Given the description of an element on the screen output the (x, y) to click on. 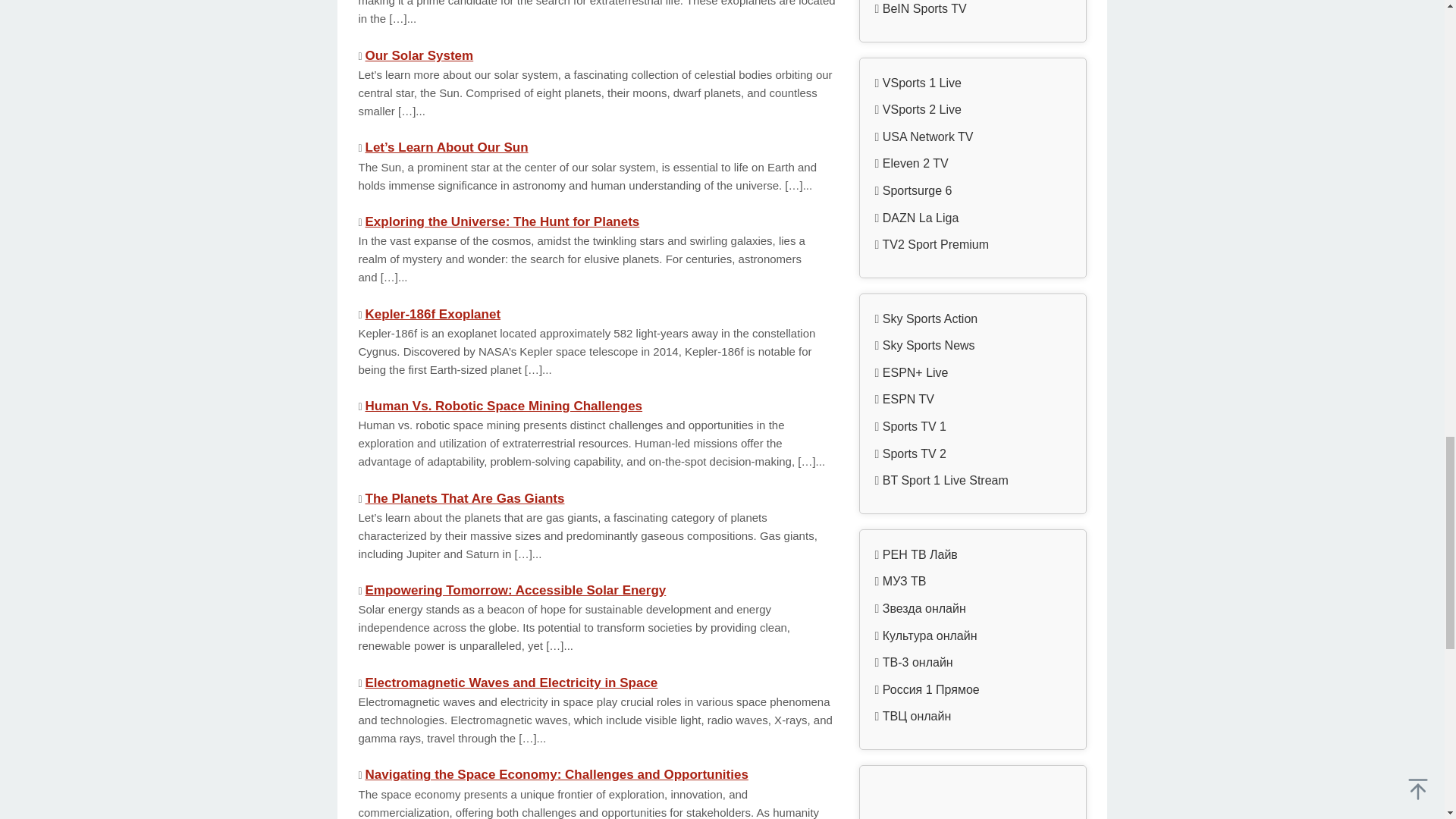
Our Solar System (419, 55)
Navigating the Space Economy: Challenges and Opportunities (556, 774)
Exploring the Universe: The Hunt for Planets (502, 221)
The Planets That Are Gas Giants (464, 498)
Electromagnetic Waves and Electricity in Space (511, 682)
Human Vs. Robotic Space Mining Challenges (504, 405)
The Planets That Are Gas Giants (464, 498)
Kepler-186f Exoplanet (432, 313)
Navigating the Space Economy: Challenges and Opportunities (556, 774)
Kepler-186f Exoplanet (432, 313)
